Given the description of an element on the screen output the (x, y) to click on. 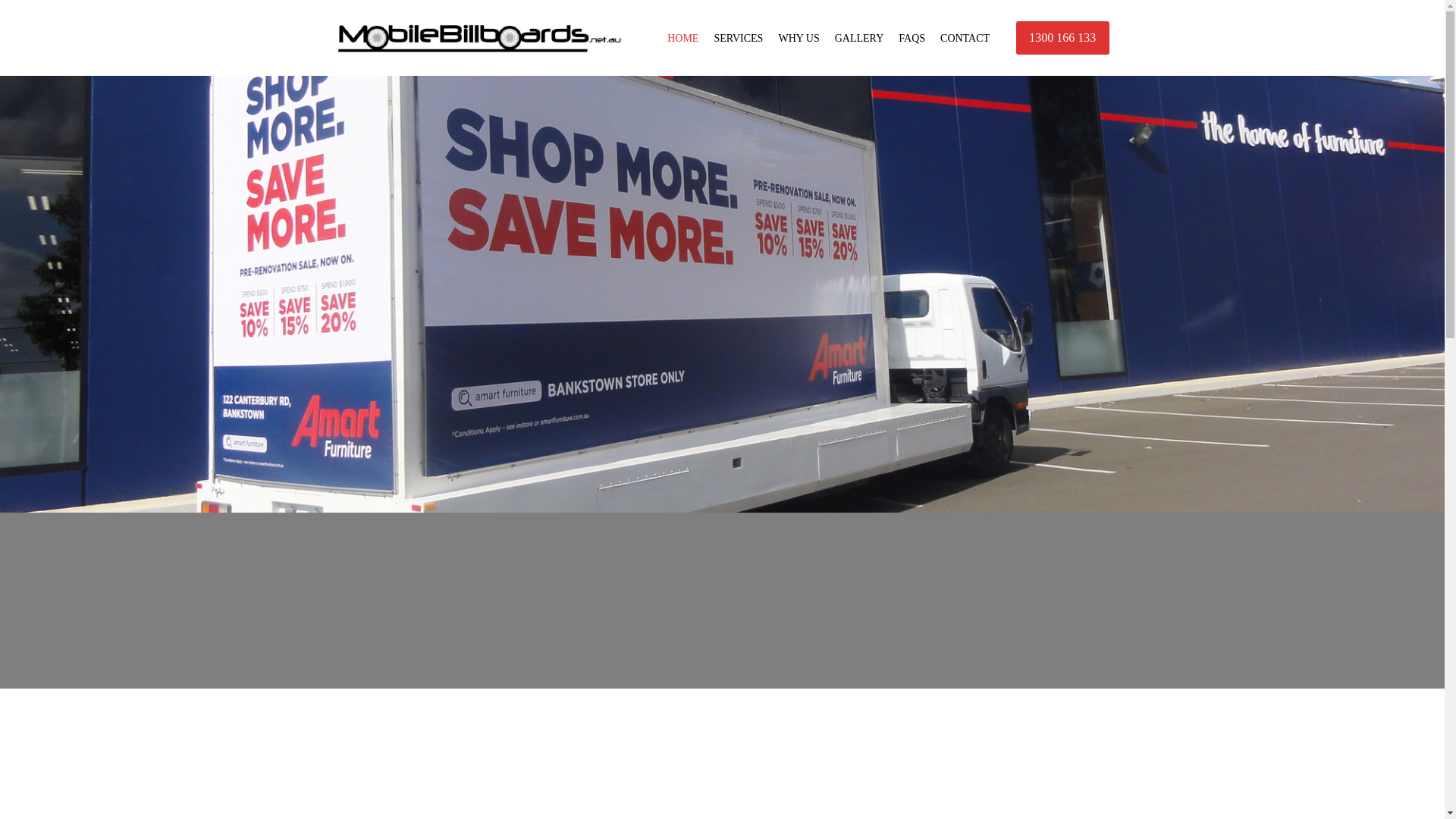
SERVICES Element type: text (738, 37)
CONTACT Element type: text (964, 37)
HOME Element type: text (682, 37)
FAQS Element type: text (911, 37)
WHY US Element type: text (798, 37)
GALLERY Element type: text (859, 37)
